Given the description of an element on the screen output the (x, y) to click on. 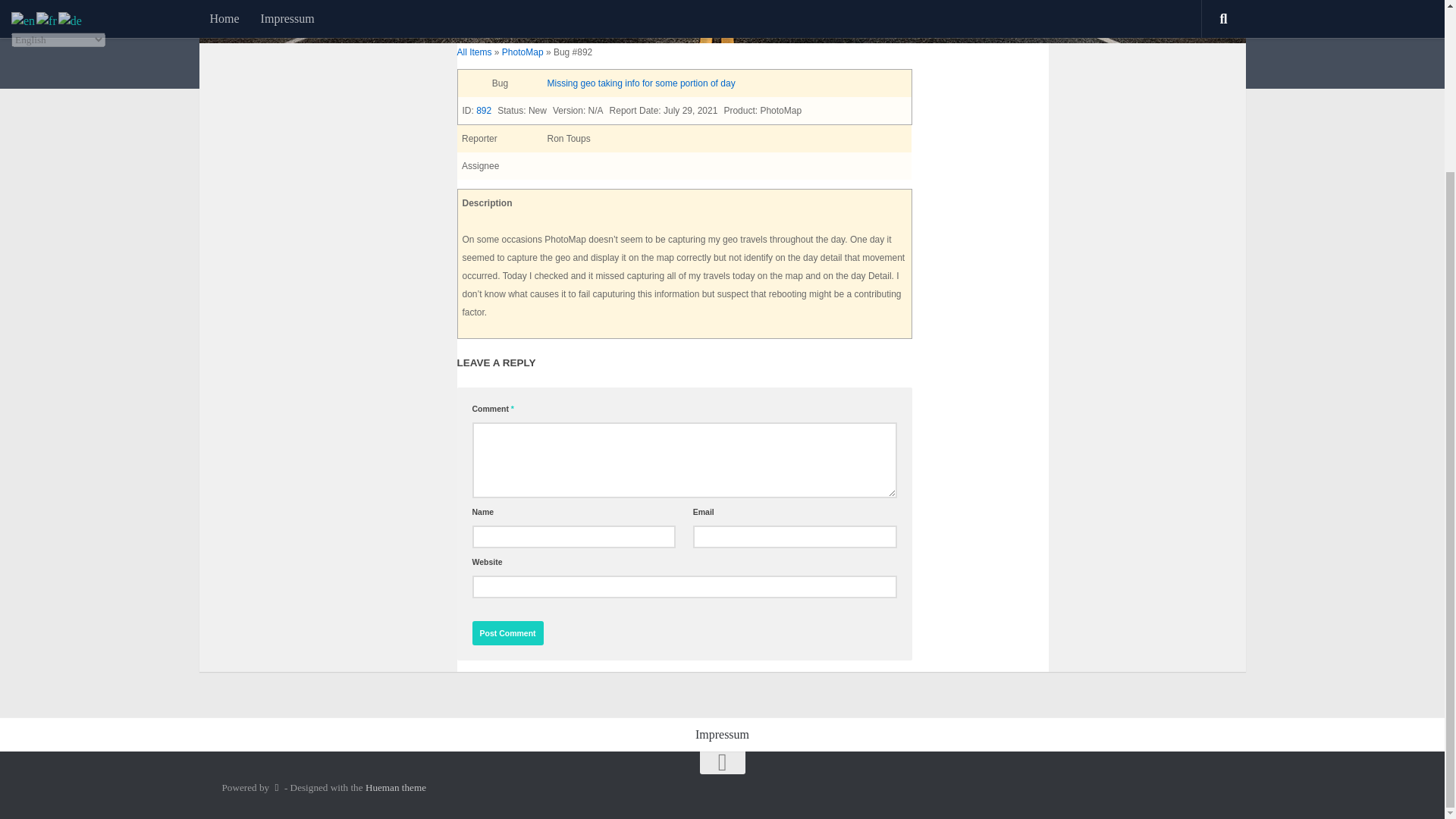
Hueman theme (395, 787)
Hueman theme (395, 787)
Post Comment (507, 632)
892 (484, 110)
Post Comment (507, 632)
Impressum (721, 734)
All Items (474, 51)
Missing geo taking info for some portion of day (641, 82)
Powered by WordPress (275, 787)
PhotoMap (522, 51)
